Given the description of an element on the screen output the (x, y) to click on. 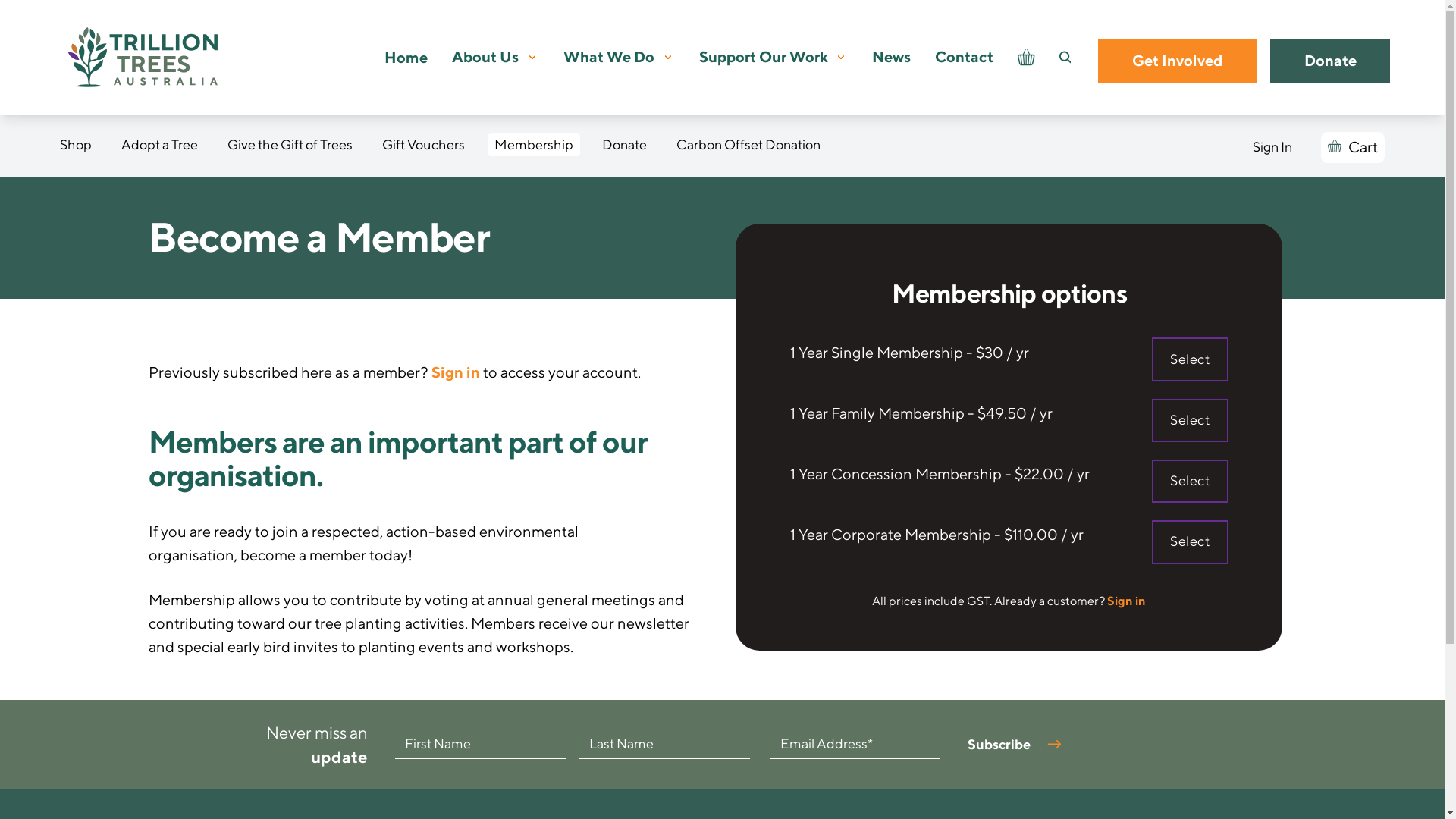
Contact Element type: text (964, 57)
Adopt a Tree Element type: text (159, 144)
Donate Element type: text (624, 144)
Gift Vouchers Element type: text (423, 144)
Carbon Offset Donation Element type: text (748, 144)
Search Element type: hover (1078, 57)
About Us Element type: text (484, 57)
Cart Element type: text (1352, 146)
Donate Element type: text (1330, 60)
Subscribe Element type: text (1015, 744)
Sign in Element type: text (455, 371)
What We Do Element type: text (608, 57)
Get Involved Element type: text (1177, 60)
Online Store Element type: hover (1025, 57)
Support Our Work Element type: text (763, 57)
News Element type: text (891, 57)
Home Element type: text (405, 56)
Sign In Element type: text (1272, 146)
Shop Element type: text (75, 144)
Give the Gift of Trees Element type: text (289, 144)
Sign in Element type: text (1126, 600)
Membership Element type: text (533, 144)
